Given the description of an element on the screen output the (x, y) to click on. 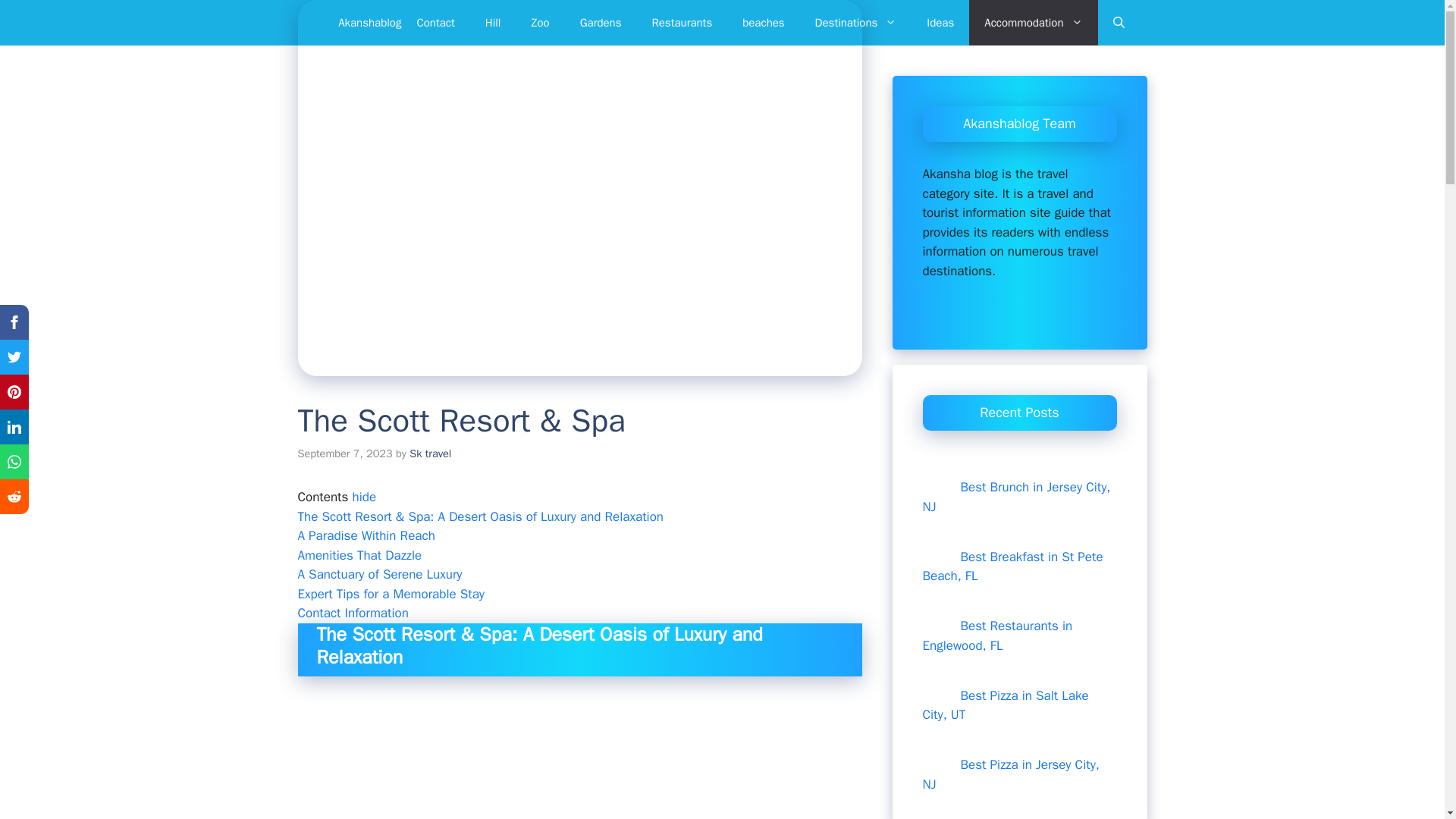
Restaurants (682, 22)
Hill (493, 22)
Akanshablog (369, 22)
Best Pizza in Jersey City, NJ 8 (940, 750)
beaches (762, 22)
Sk travel (430, 453)
Expert Tips for a Memorable Stay (390, 593)
Destinations (855, 22)
hide (363, 496)
A Sanctuary of Serene Luxury (379, 574)
Contact Information (352, 612)
Zoo (539, 22)
View all posts by Sk travel (430, 453)
Best Restaurants in Englewood, FL 6 (940, 610)
Gardens (600, 22)
